Given the description of an element on the screen output the (x, y) to click on. 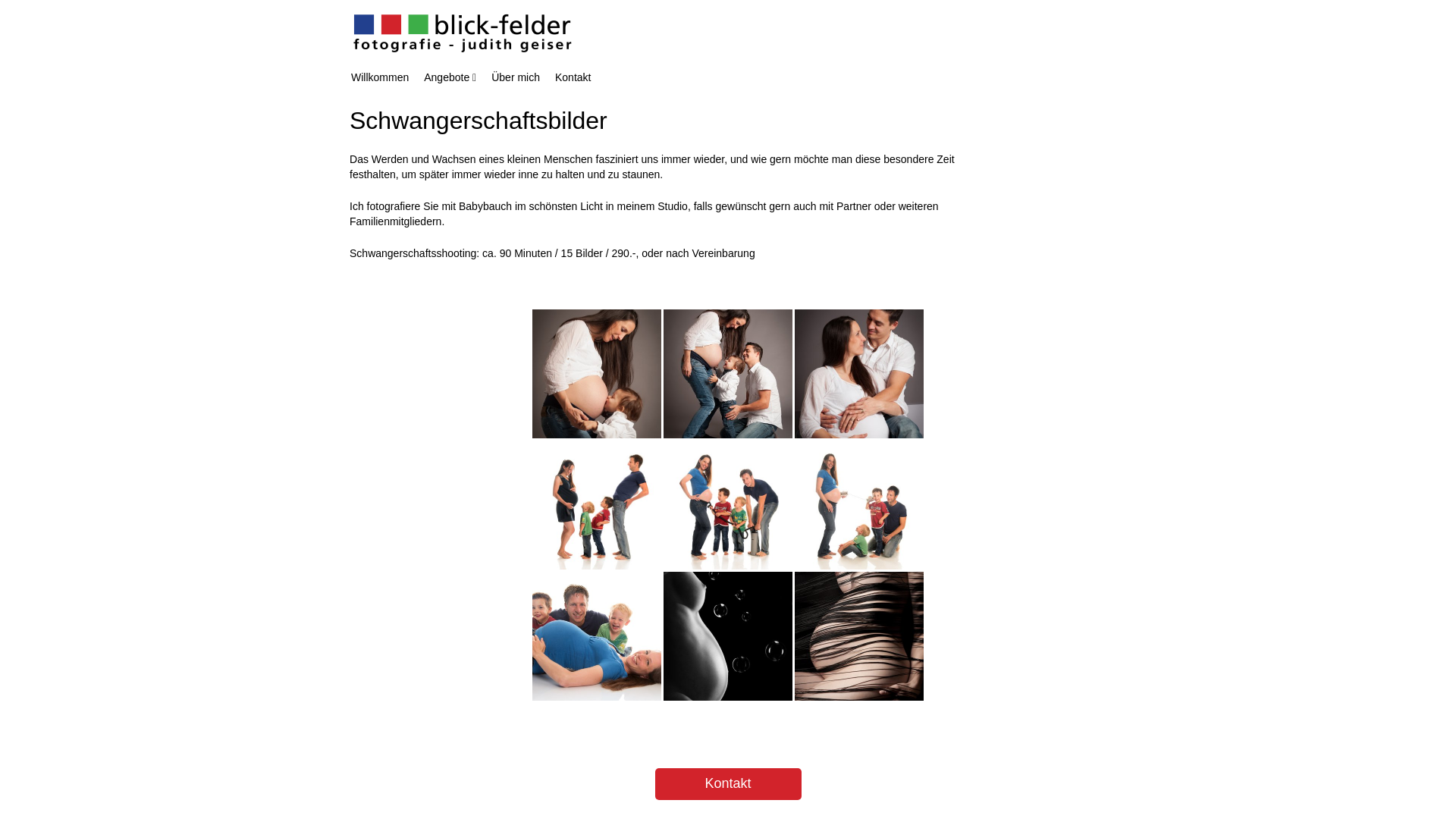
Kontakt Element type: text (572, 77)
Willkommen Element type: text (379, 77)
